Given the description of an element on the screen output the (x, y) to click on. 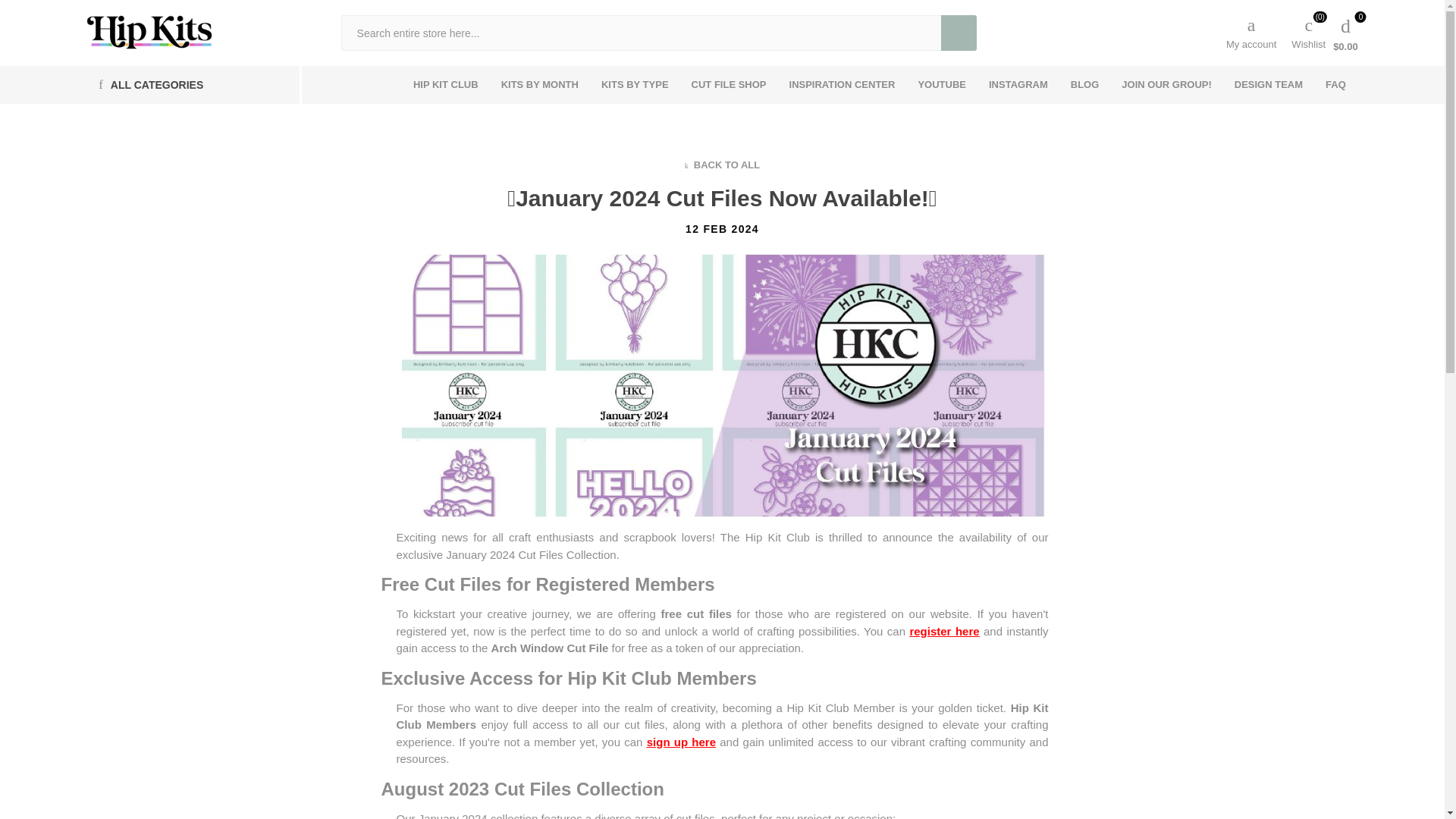
Hip Kit Club (148, 32)
My account (1250, 32)
SEARCH (958, 32)
